Given the description of an element on the screen output the (x, y) to click on. 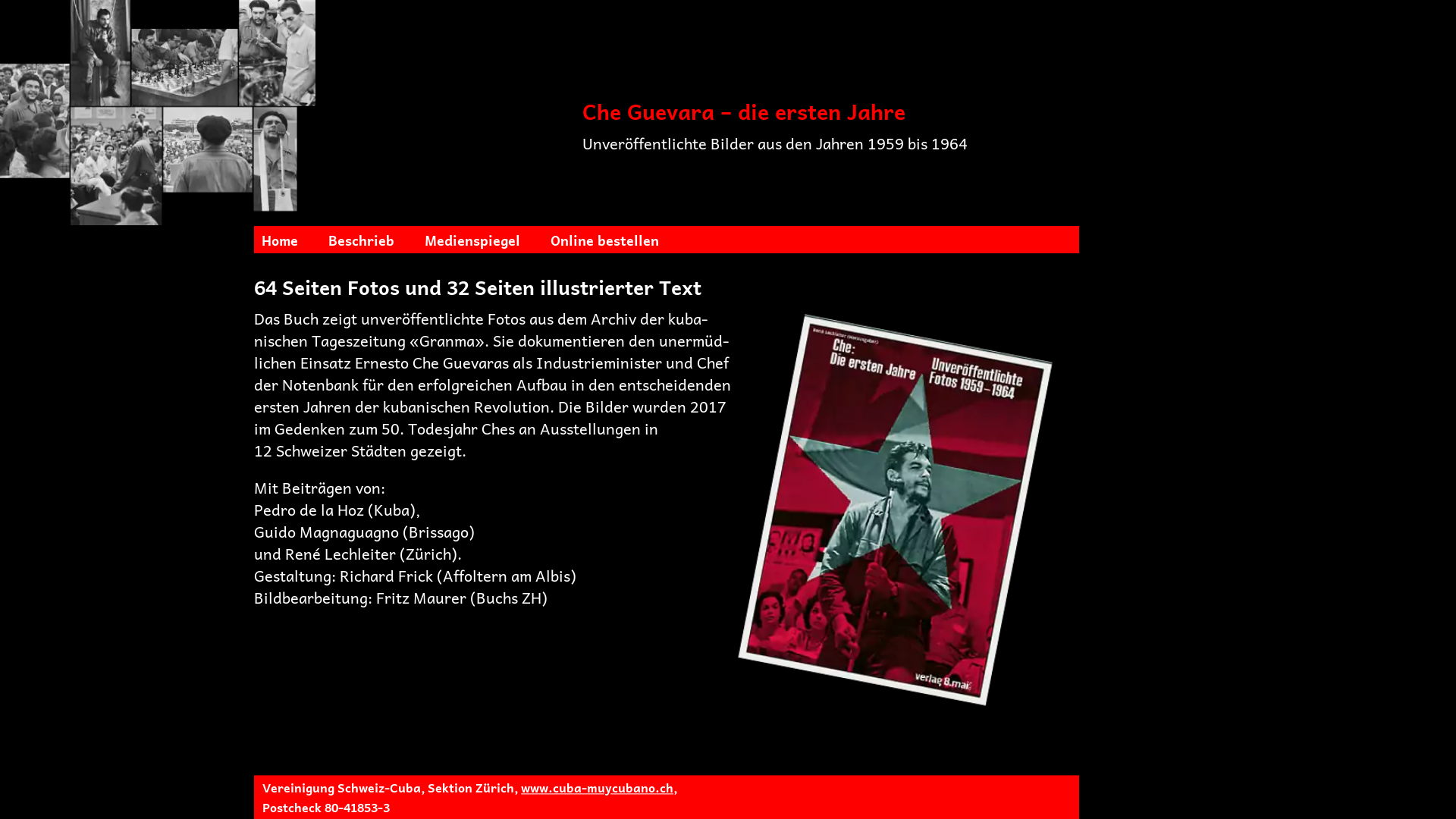
Medienspiegel Element type: text (472, 240)
Beschrieb Element type: text (361, 240)
Online bestellen Element type: text (604, 240)
www.cuba-muycubano.ch Element type: text (596, 787)
Home Element type: text (279, 240)
